Given the description of an element on the screen output the (x, y) to click on. 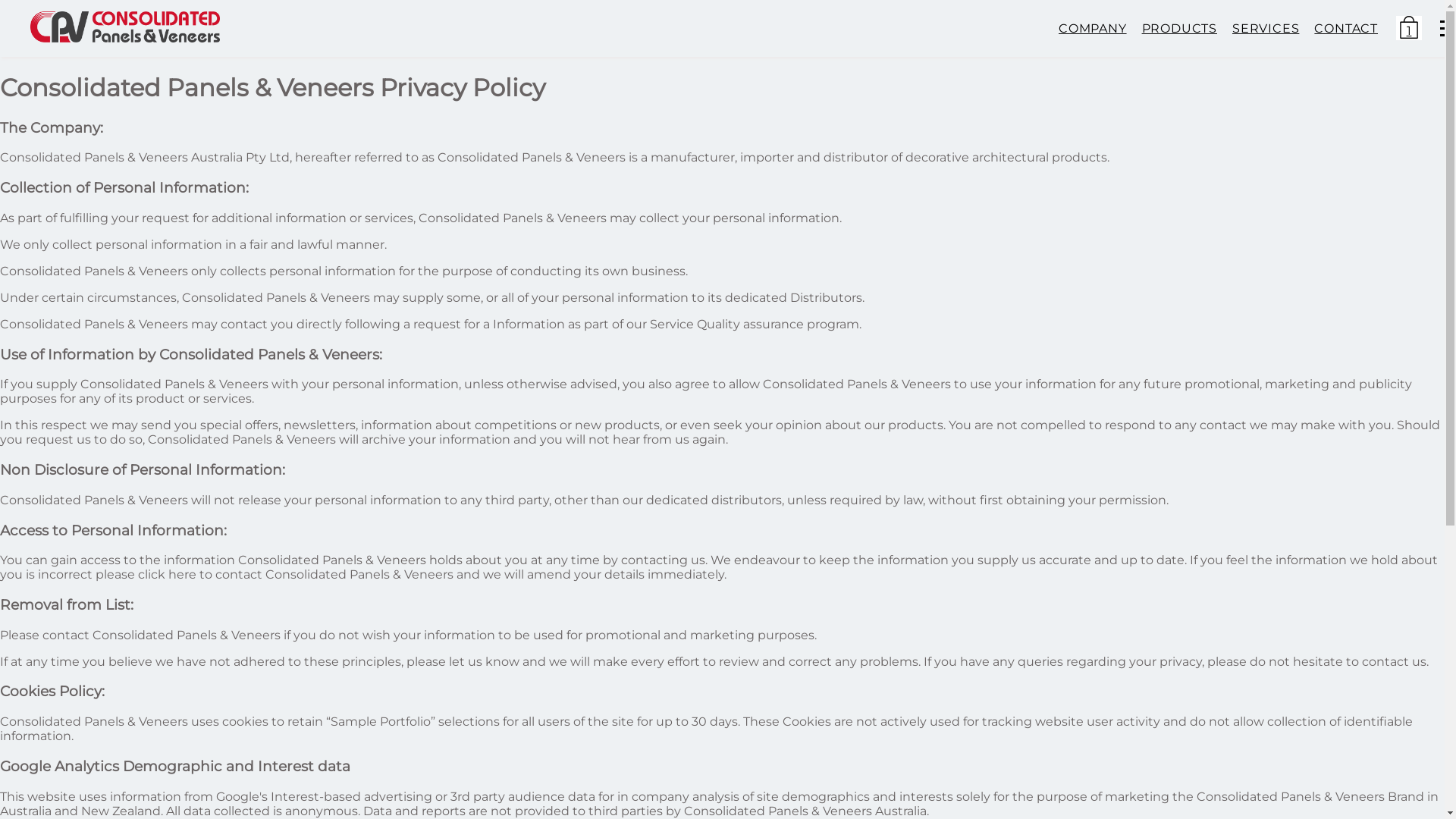
SERVICES Element type: text (1265, 28)
CONTACT Element type: text (1345, 28)
1 Element type: text (1408, 29)
PRODUCTS Element type: text (1179, 28)
COMPANY Element type: text (1092, 28)
